Given the description of an element on the screen output the (x, y) to click on. 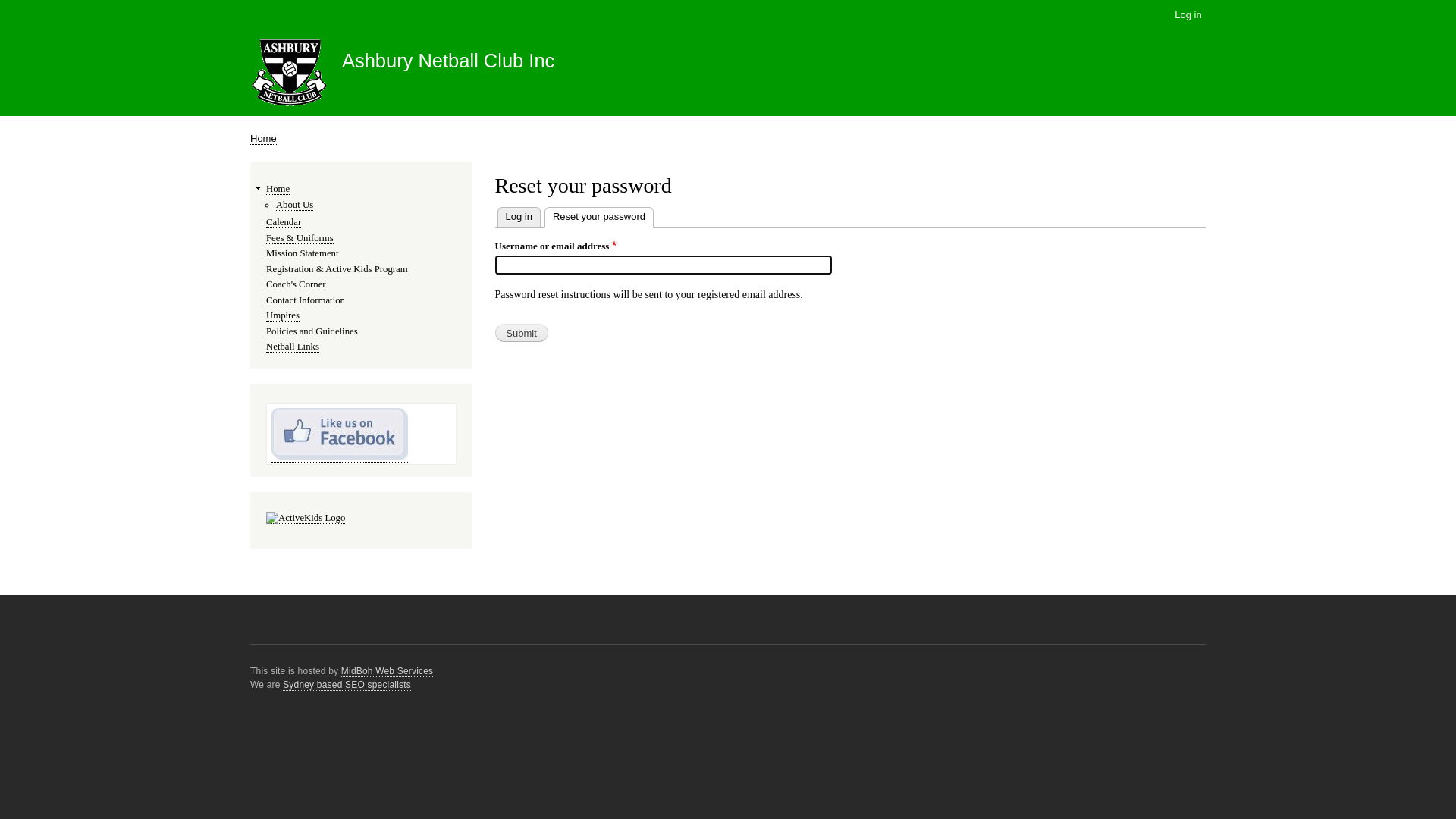
MidBoh Web Services Element type: text (387, 671)
Reset your password
(active tab) Element type: text (598, 217)
Policies and Guidelines Element type: text (311, 331)
Fees & Uniforms Element type: text (299, 238)
Mission Statement Element type: text (302, 253)
Log in Element type: text (518, 217)
Sydney based SEO specialists Element type: text (346, 684)
Ashbury Netball Club Inc Element type: text (448, 60)
Home Element type: text (263, 138)
Netball Links Element type: text (292, 346)
Log in Element type: text (1188, 15)
Calendar Element type: text (283, 222)
Coach's Corner Element type: text (296, 284)
Contact Information Element type: text (305, 300)
Registration & Active Kids Program Element type: text (336, 269)
Submit Element type: text (520, 332)
Home Element type: text (277, 188)
Home Element type: hover (289, 74)
Skip to main content Element type: text (728, 1)
Umpires Element type: text (282, 315)
About Us Element type: text (294, 204)
